Given the description of an element on the screen output the (x, y) to click on. 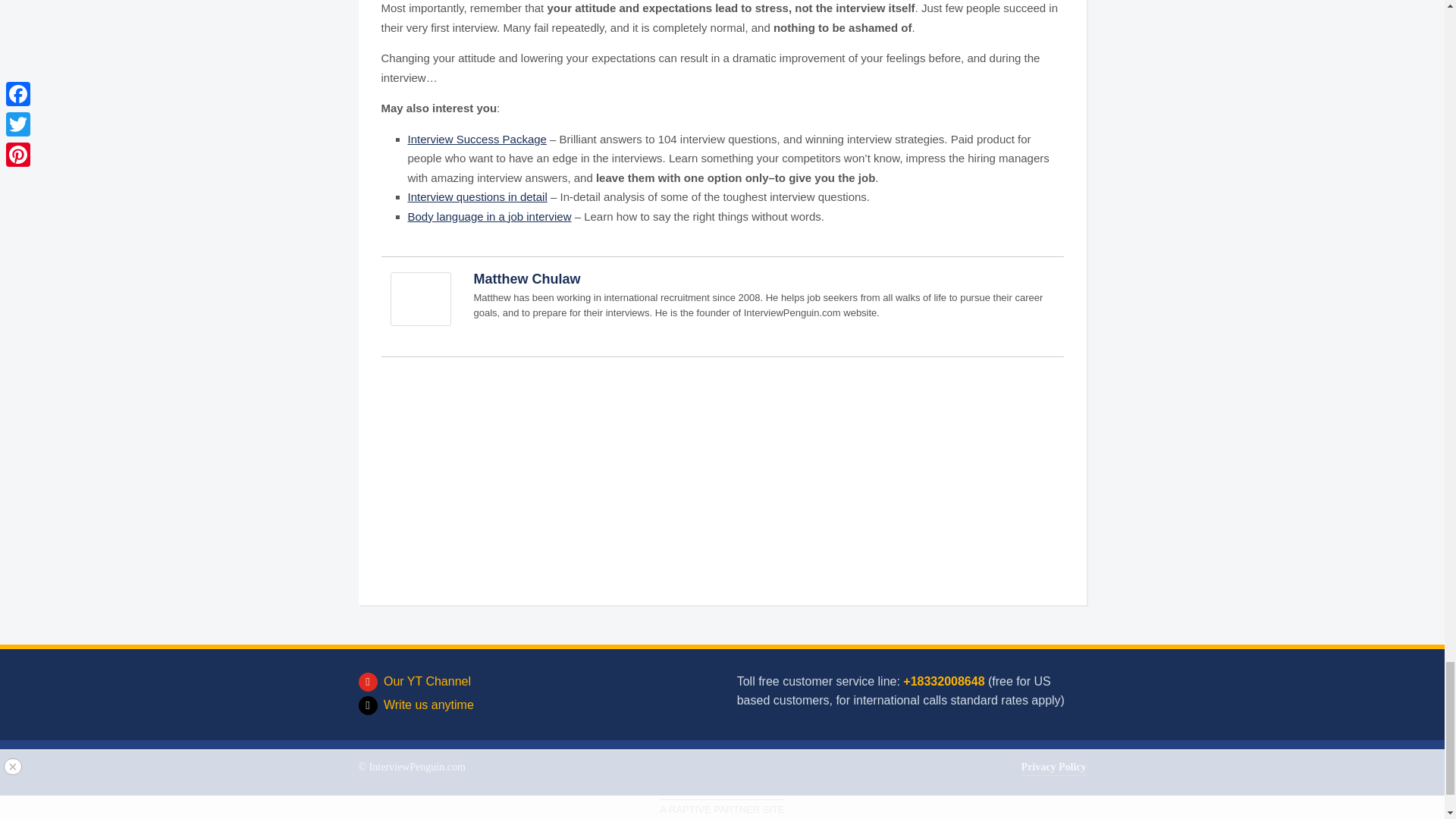
Write us anytime (415, 704)
Matthew Chulaw (419, 305)
Our YT Channel  (414, 680)
